Given the description of an element on the screen output the (x, y) to click on. 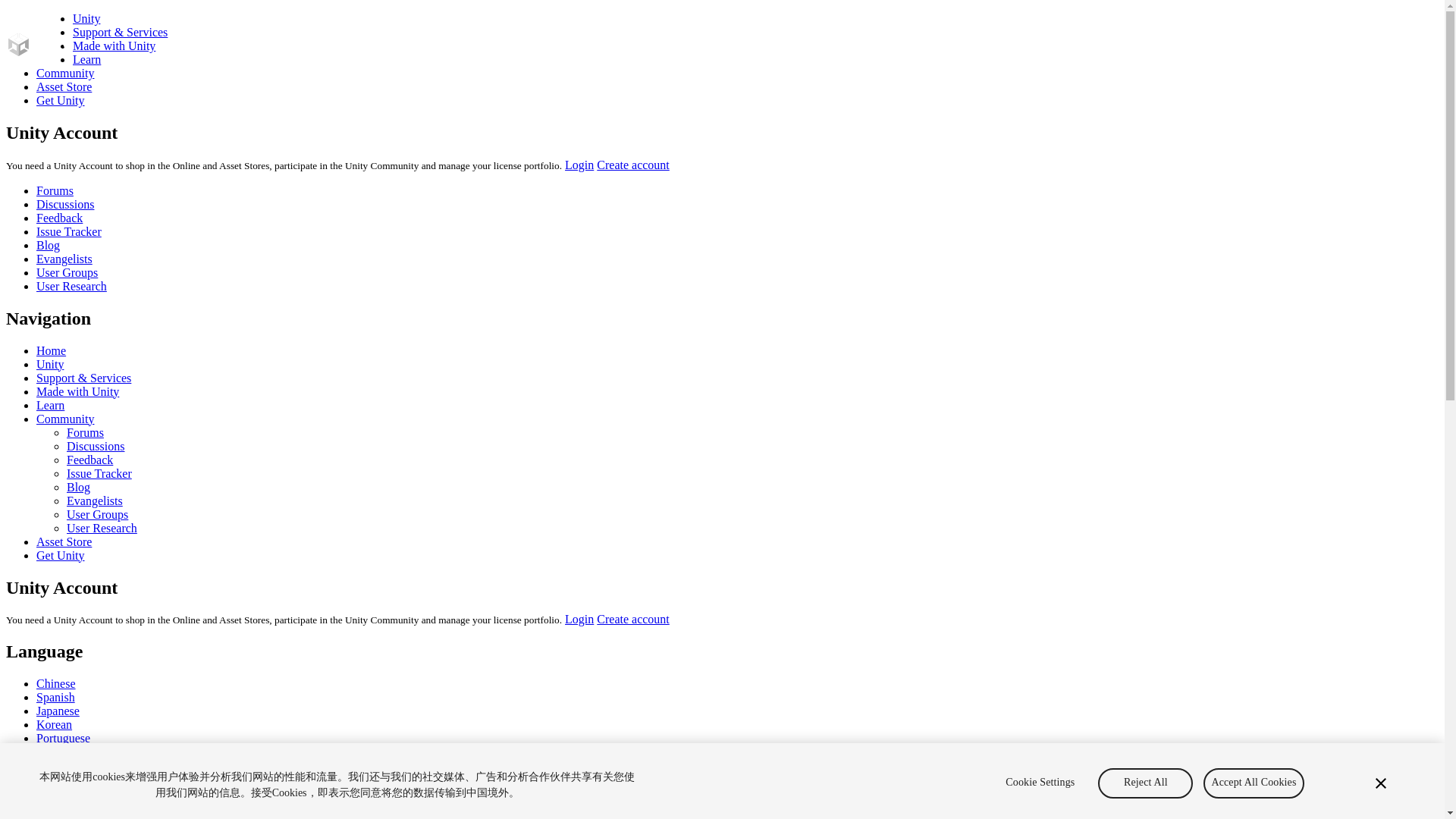
Create account (632, 164)
Login (579, 618)
Asset Store (63, 86)
Asset Store (63, 541)
Community (65, 72)
User Research (71, 286)
Community (65, 418)
Chinese (55, 683)
Issue Tracker (99, 472)
Forums (55, 190)
User Groups (97, 513)
Unity (86, 18)
Learn (86, 59)
Spanish (55, 697)
Issue Tracker (68, 231)
